Given the description of an element on the screen output the (x, y) to click on. 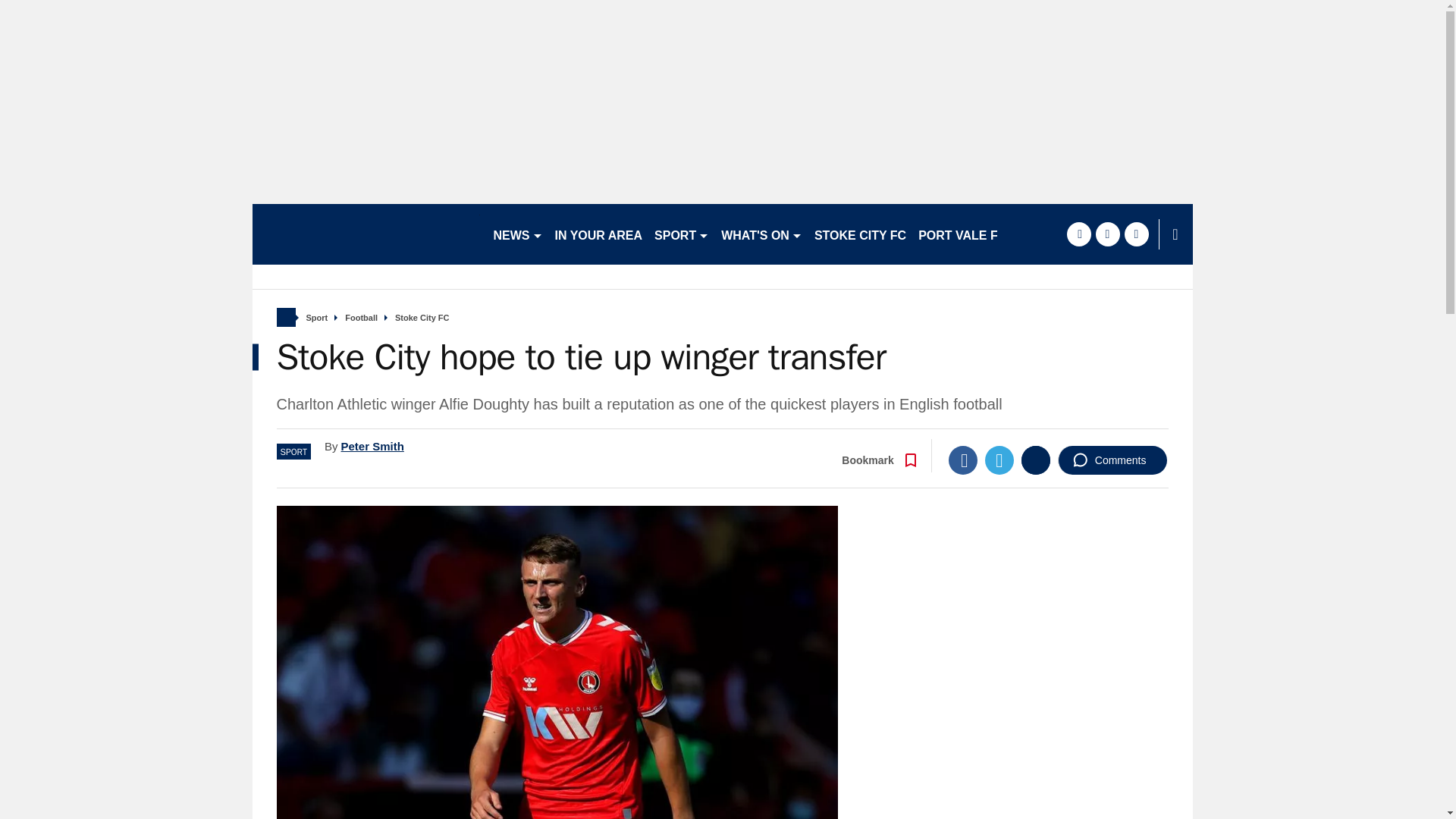
SPORT (680, 233)
WHAT'S ON (761, 233)
Facebook (962, 460)
PORT VALE FC (961, 233)
facebook (1077, 233)
IN YOUR AREA (598, 233)
twitter (1106, 233)
Twitter (999, 460)
instagram (1136, 233)
Comments (1112, 460)
stokesentinel (365, 233)
STOKE CITY FC (860, 233)
NEWS (517, 233)
